Given the description of an element on the screen output the (x, y) to click on. 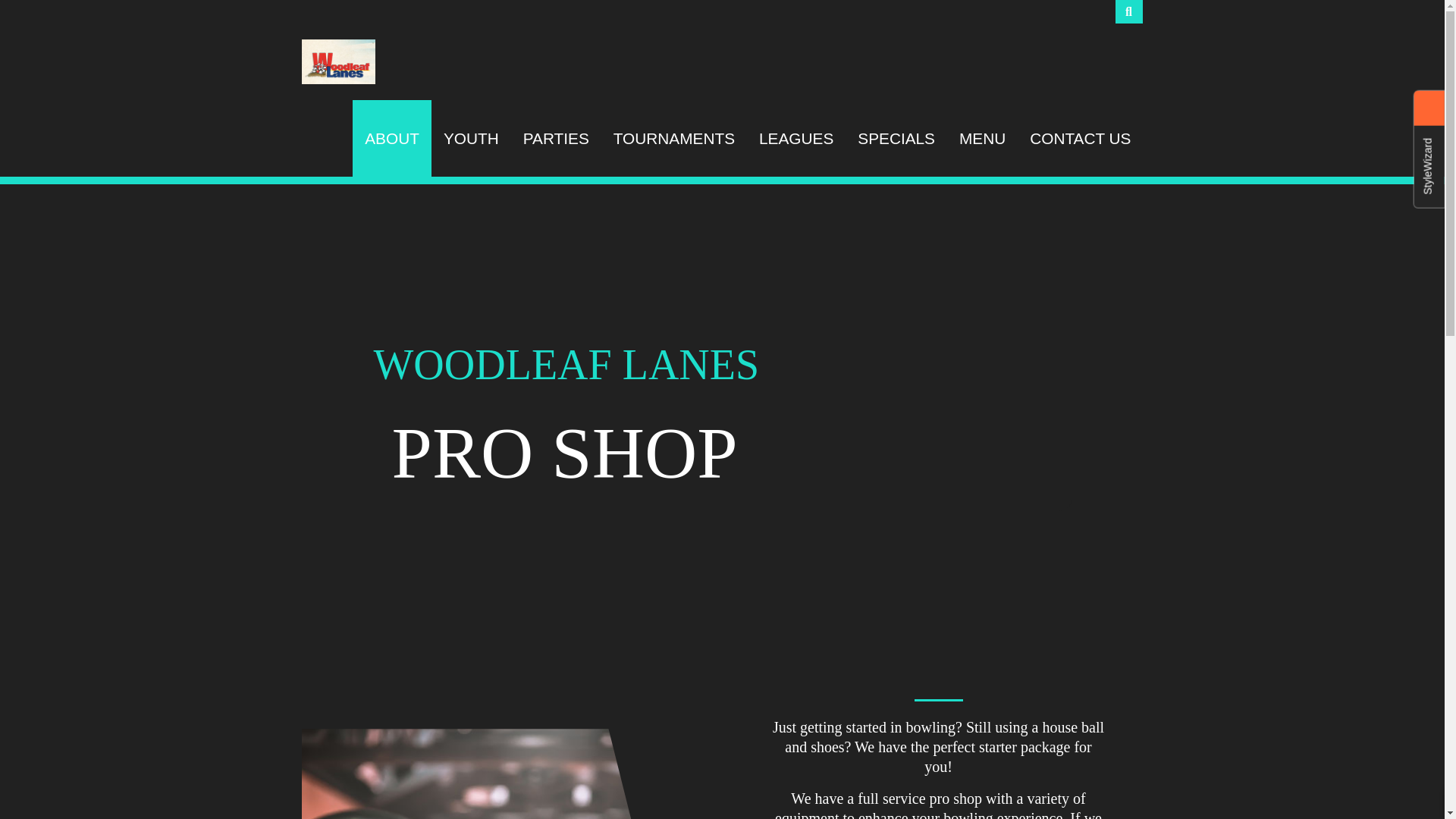
YOUTH (470, 137)
Submit (28, 12)
TOURNAMENTS (673, 137)
LEAGUES (795, 137)
PARTIES (556, 137)
CONTACT US (1079, 137)
ABOUT (391, 137)
MENU (982, 137)
SPECIALS (896, 137)
